Given the description of an element on the screen output the (x, y) to click on. 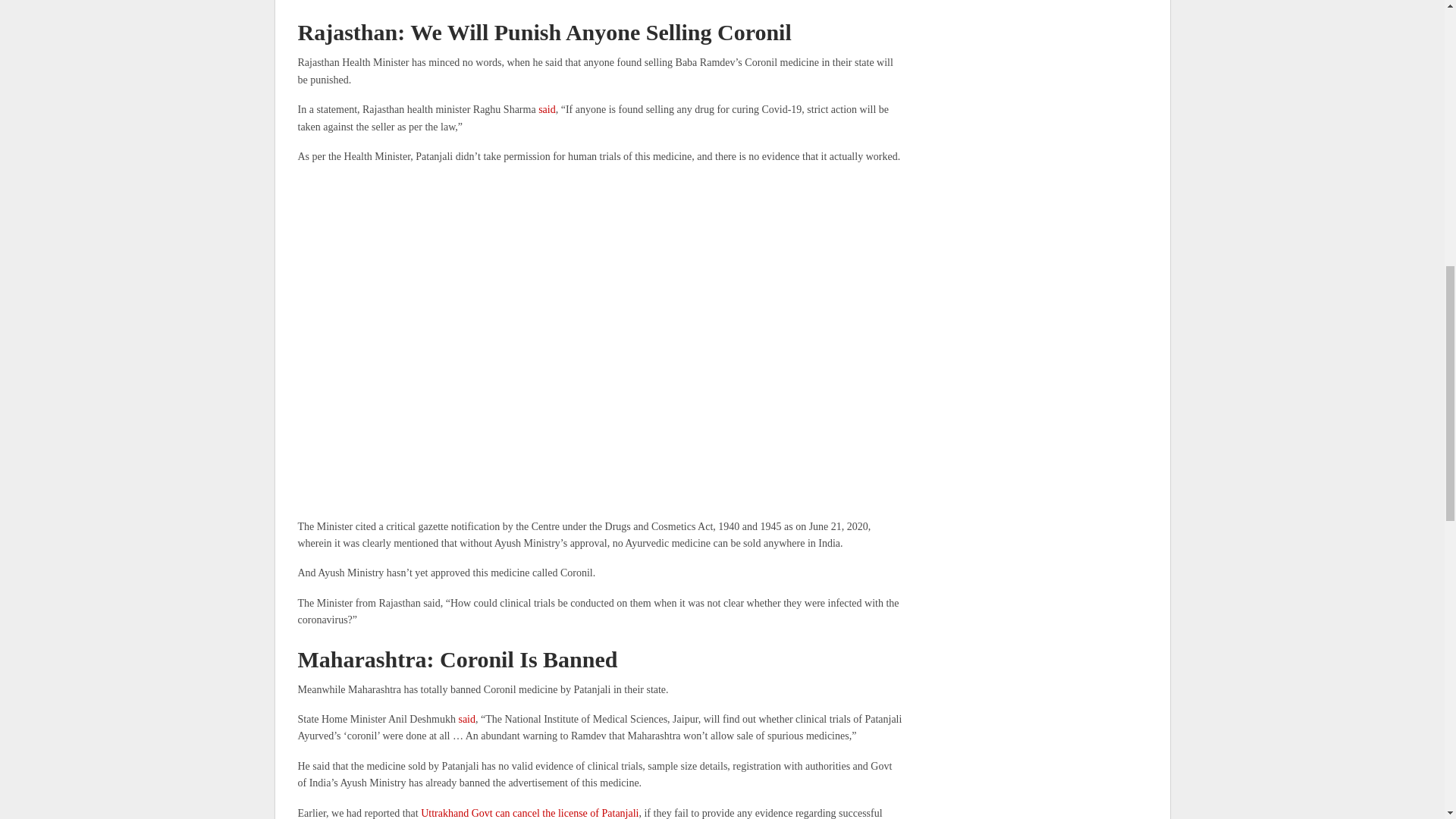
said (547, 109)
said (467, 718)
Uttrakhand Govt can cancel the license of Patanjali (529, 813)
